Given the description of an element on the screen output the (x, y) to click on. 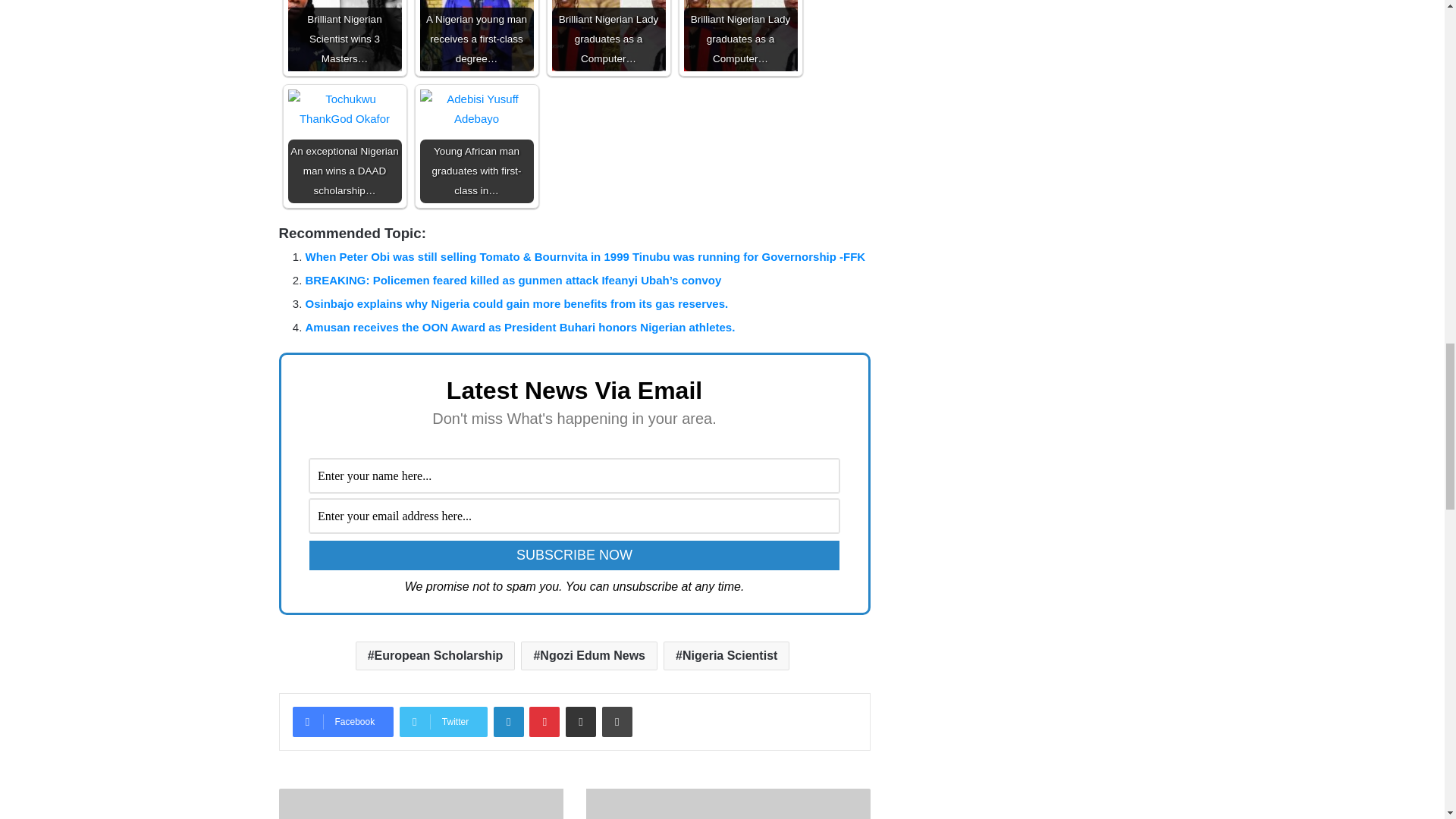
Subscribe Now (574, 555)
